Given the description of an element on the screen output the (x, y) to click on. 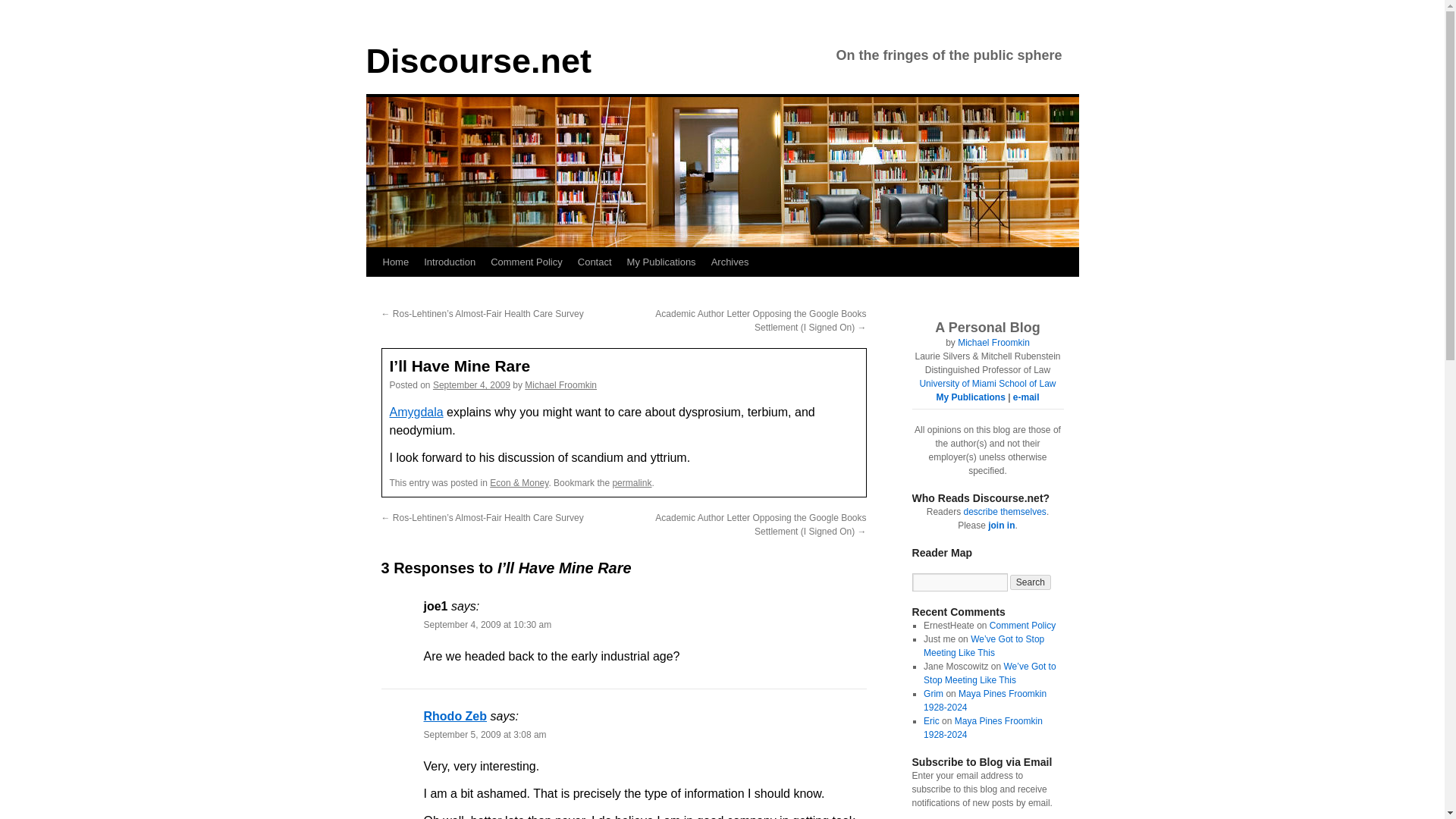
Search (1030, 581)
My Publications (661, 262)
Where I work (986, 383)
Rhodo Zeb (454, 716)
Discourse.net (478, 60)
12:00 am (471, 385)
Comment Policy (1022, 624)
My Publications (970, 397)
Discourse.net (478, 60)
permalink (630, 482)
Maya Pines Froomkin 1928-2024 (982, 727)
September 5, 2009 at 3:08 am (484, 734)
e-mail (1026, 397)
View all posts by Michael Froomkin (560, 385)
Amygdala (417, 411)
